Given the description of an element on the screen output the (x, y) to click on. 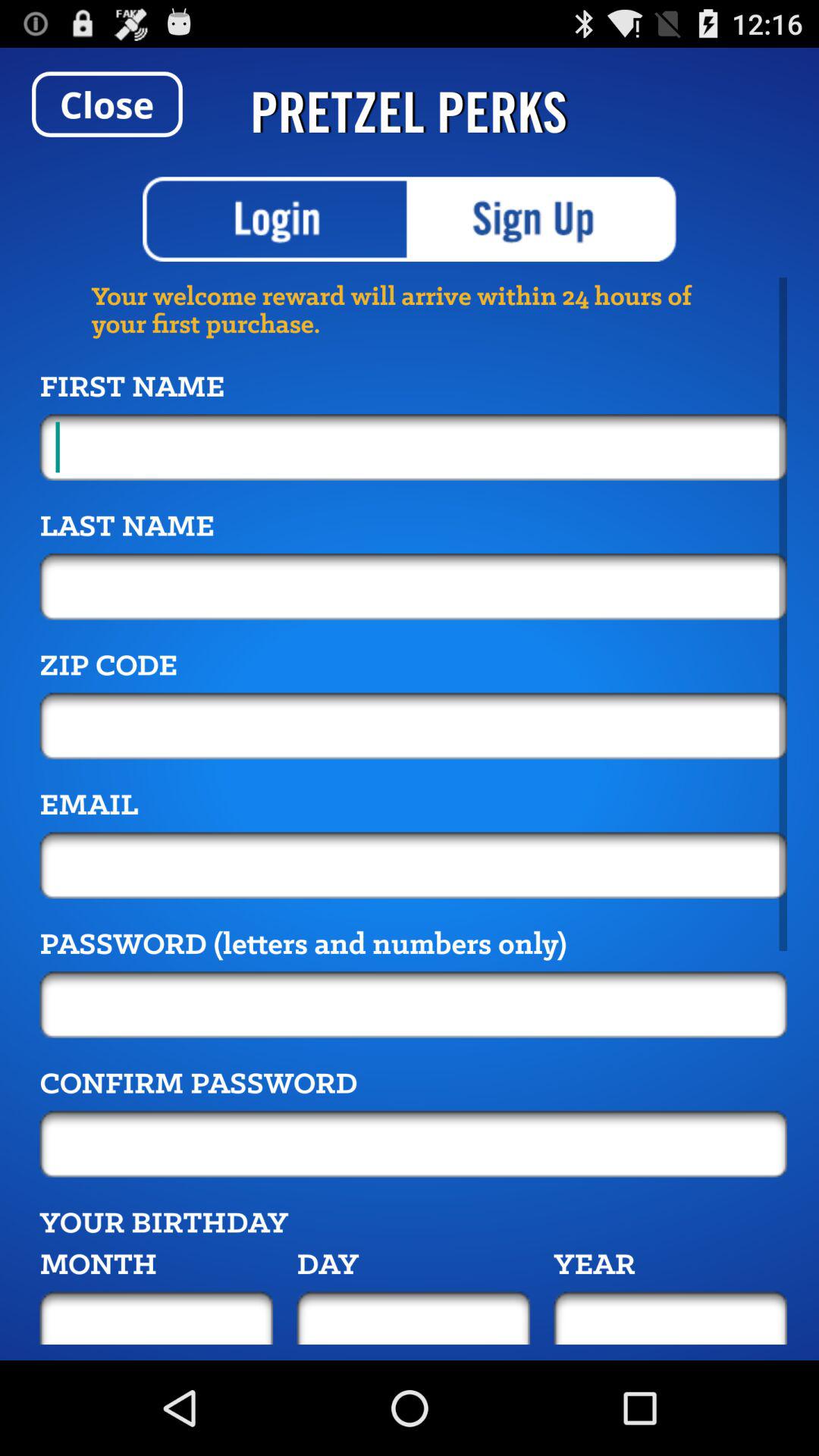
given name (413, 447)
